Given the description of an element on the screen output the (x, y) to click on. 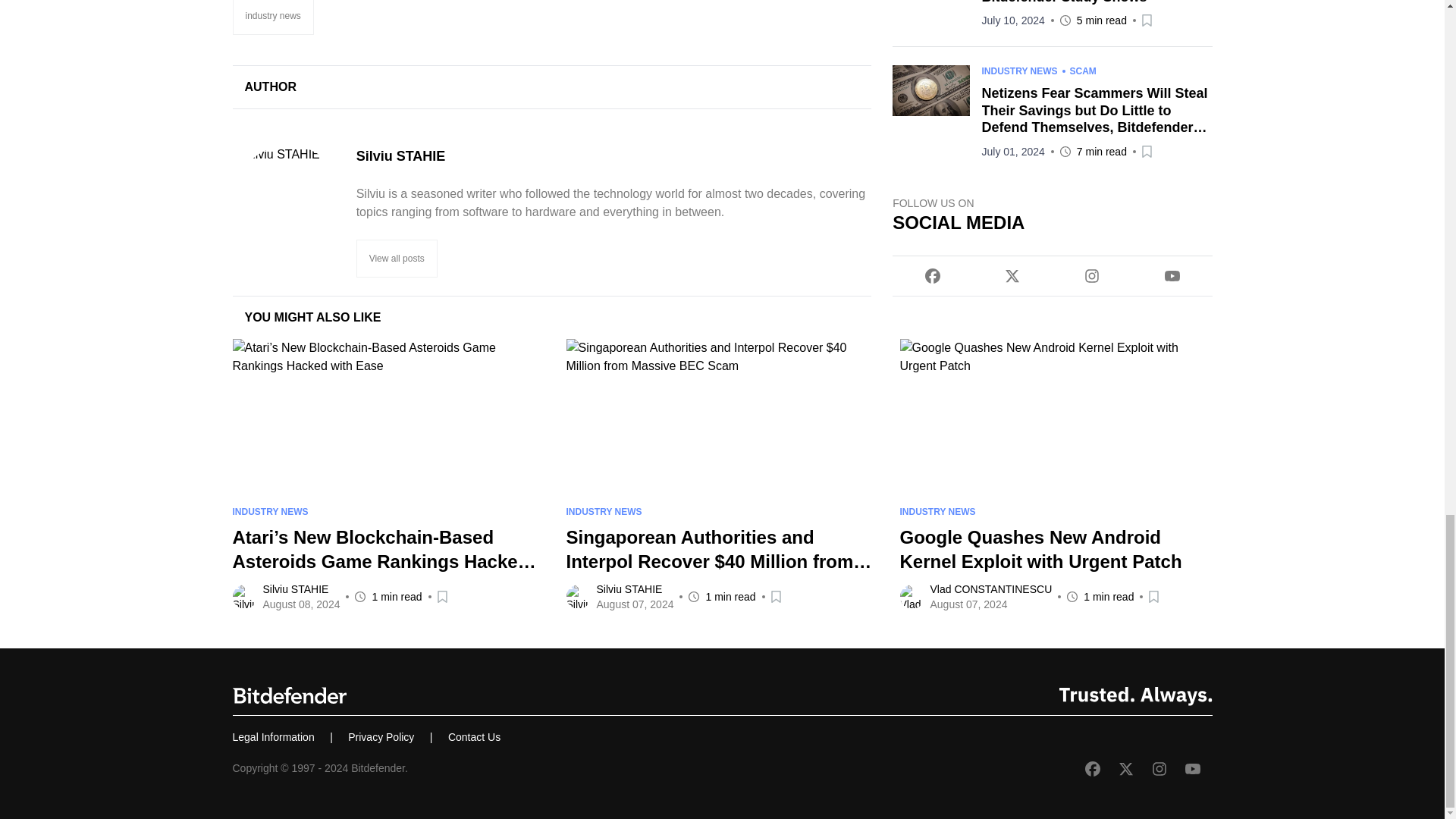
Silviu STAHIE (614, 156)
Silviu STAHIE (614, 156)
industry news (272, 17)
View all posts (397, 258)
Industry News (272, 17)
Silviu STAHIE (287, 202)
